Given the description of an element on the screen output the (x, y) to click on. 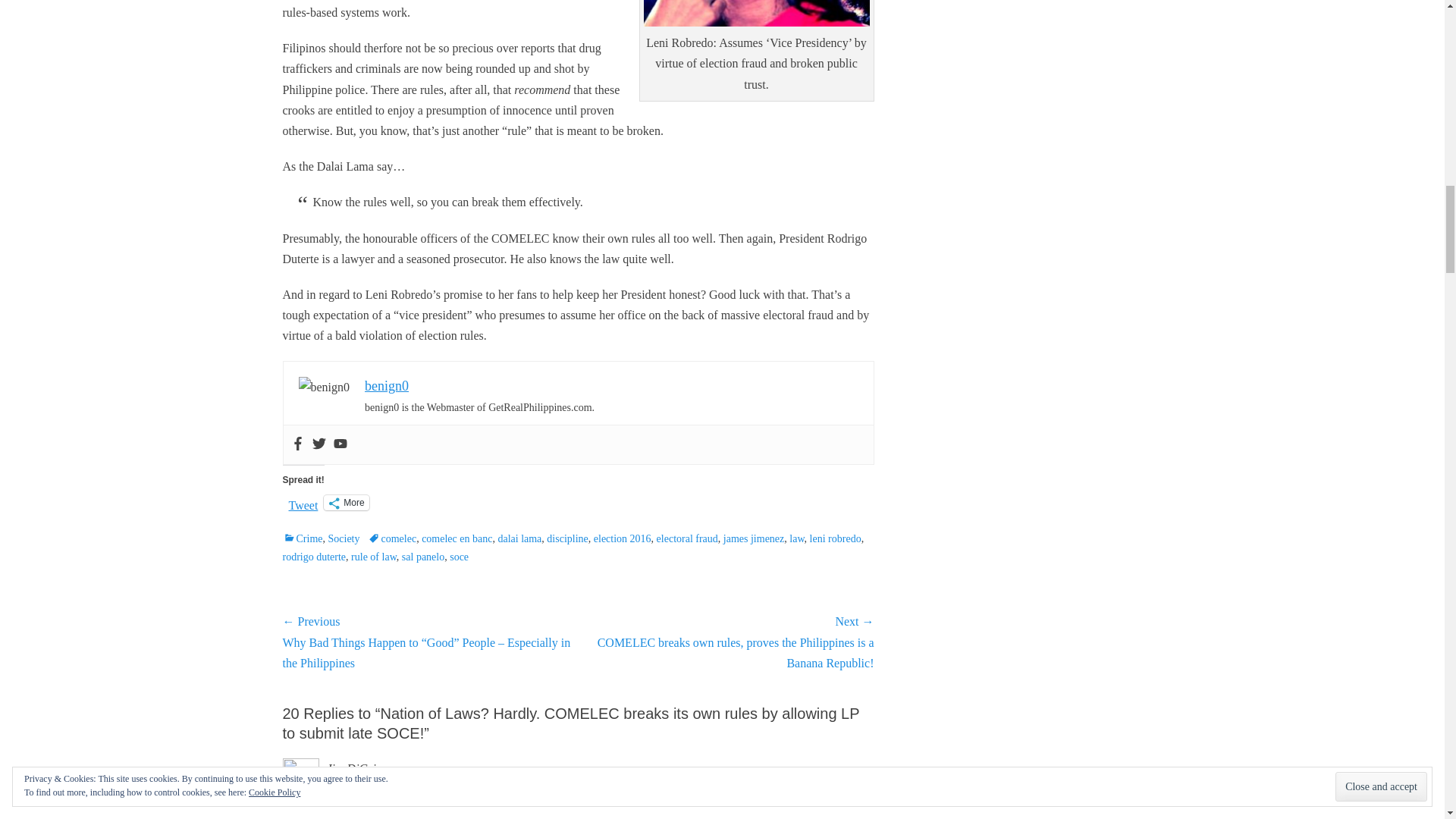
Crime (301, 538)
benign0 (387, 385)
Tweet (302, 501)
discipline (567, 538)
election 2016 (622, 538)
dalai lama (519, 538)
comelec en banc (457, 538)
comelec (391, 538)
Society (343, 538)
electoral fraud (686, 538)
